Given the description of an element on the screen output the (x, y) to click on. 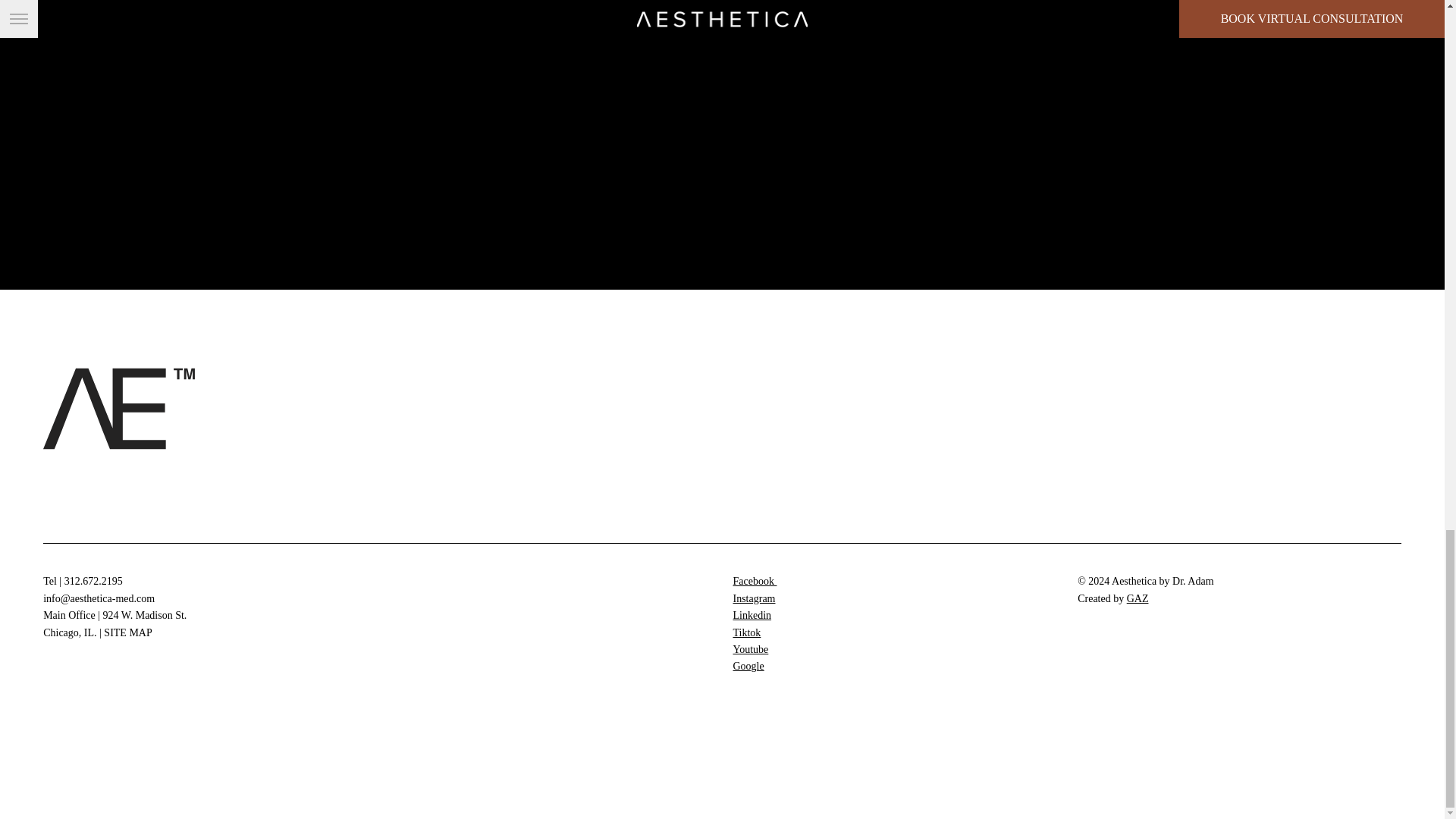
Chicago, IL. (69, 632)
312.672.2195 (93, 581)
SITE MAP (127, 632)
Tiktok (746, 632)
Instagram (753, 598)
Linkedin (751, 614)
Facebook (754, 581)
